Given the description of an element on the screen output the (x, y) to click on. 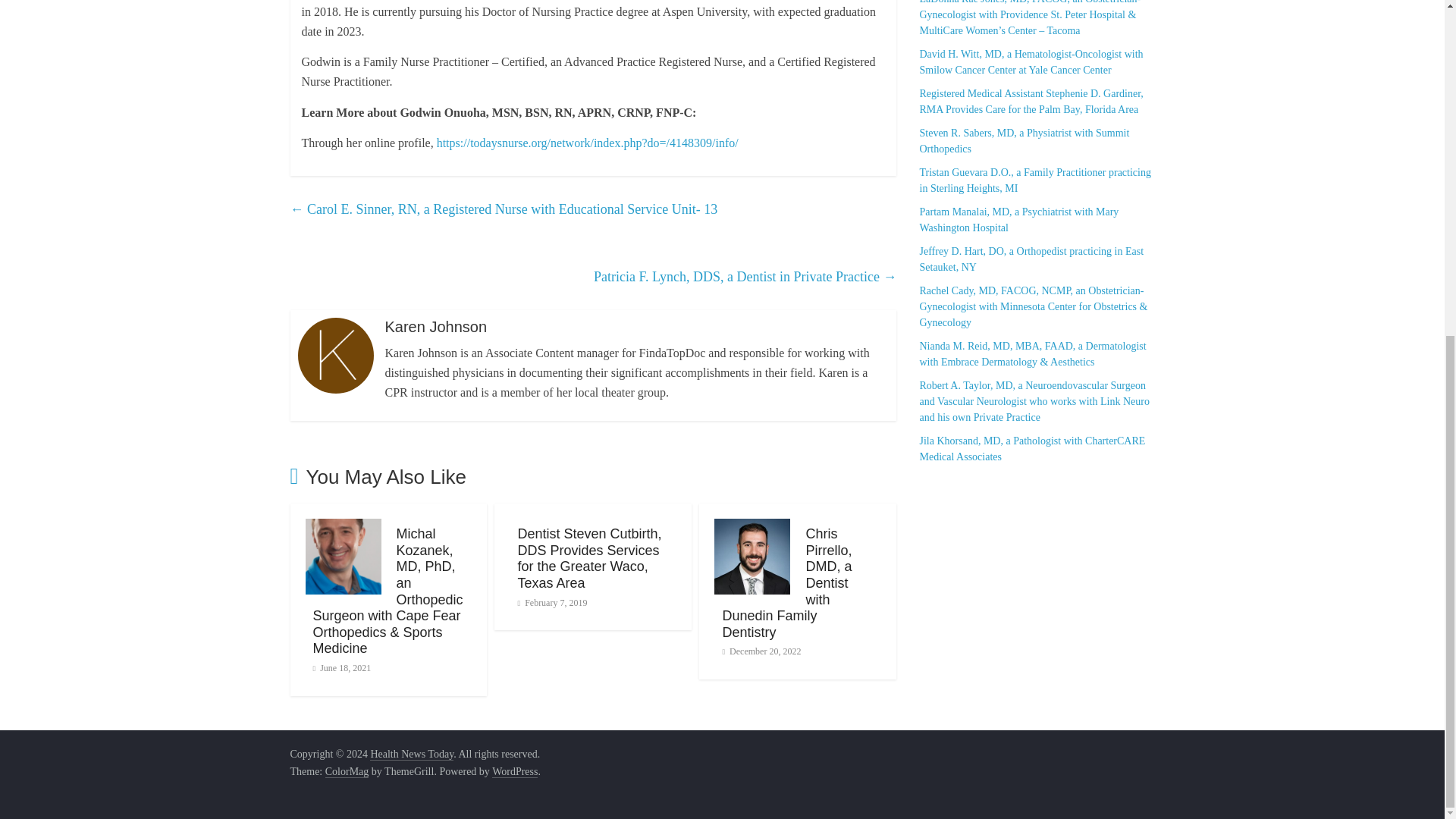
11:47 am (761, 651)
December 20, 2022 (761, 651)
Chris Pirrello, DMD, a Dentist with Dunedin Family Dentistry (786, 582)
Steven R. Sabers, MD, a Physiatrist with Summit Orthopedics (1036, 141)
February 7, 2019 (551, 602)
Chris Pirrello, DMD, a Dentist with Dunedin Family Dentistry (786, 582)
11:19 am (342, 667)
10:58 am (551, 602)
June 18, 2021 (342, 667)
